Given the description of an element on the screen output the (x, y) to click on. 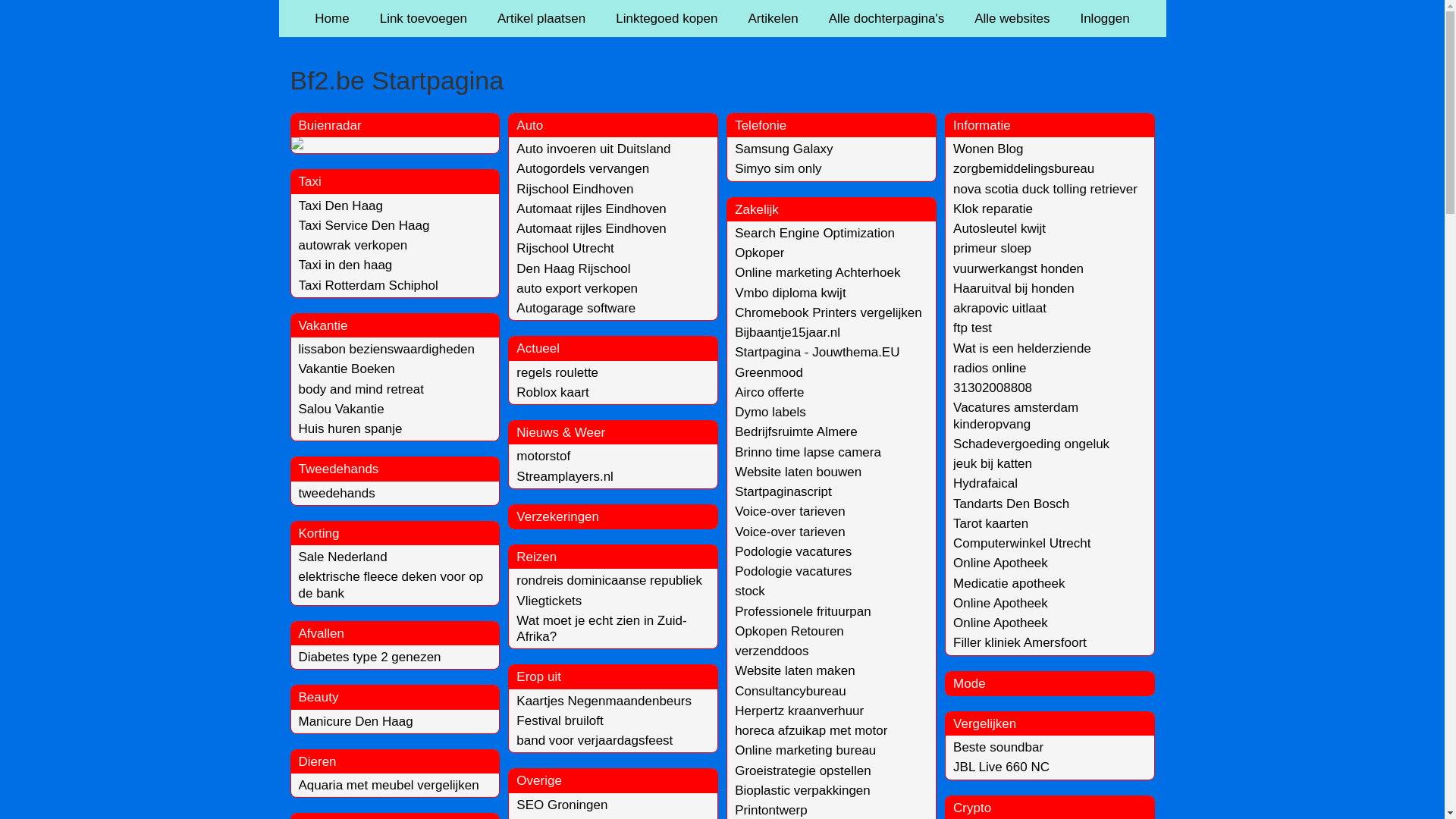
Salou Vakantie Element type: text (341, 408)
Vergelijken Element type: text (984, 723)
band voor verjaardagsfeest Element type: text (594, 740)
Auto invoeren uit Duitsland Element type: text (593, 148)
Zakelijk Element type: text (756, 209)
Taxi Service Den Haag Element type: text (363, 225)
Schadevergoeding ongeluk Element type: text (1031, 443)
Wat moet je echt zien in Zuid-Afrika? Element type: text (601, 628)
Bedrijfsruimte Almere Element type: text (795, 431)
rondreis dominicaanse republiek Element type: text (609, 580)
Online Apotheek Element type: text (1000, 603)
Wonen Blog Element type: text (987, 148)
Klok reparatie Element type: text (992, 208)
Roblox kaart Element type: text (552, 392)
Herpertz kraanverhuur Element type: text (798, 710)
Search Engine Optimization Element type: text (814, 232)
nova scotia duck tolling retriever Element type: text (1045, 189)
primeur sloep Element type: text (992, 248)
SEO Groningen Element type: text (561, 804)
Startpagina - Jouwthema.EU Element type: text (816, 352)
Vacatures amsterdam kinderopvang Element type: text (1015, 415)
Alle dochterpagina's Element type: text (886, 18)
Online marketing bureau Element type: text (804, 750)
Kaartjes Negenmaandenbeurs Element type: text (603, 700)
Artikelen Element type: text (772, 18)
Simyo sim only Element type: text (777, 168)
Erop uit Element type: text (538, 676)
jeuk bij katten Element type: text (992, 463)
Airco offerte Element type: text (768, 392)
stock Element type: text (749, 590)
Bf2.be Startpagina Element type: text (721, 80)
autowrak verkopen Element type: text (352, 245)
Autogordels vervangen Element type: text (582, 168)
horeca afzuikap met motor Element type: text (810, 730)
tweedehands Element type: text (336, 493)
Linktegoed kopen Element type: text (666, 18)
Manicure Den Haag Element type: text (355, 721)
Automaat rijles Eindhoven Element type: text (591, 228)
Groeistrategie opstellen Element type: text (802, 770)
Actueel Element type: text (537, 348)
Wat is een helderziende Element type: text (1022, 348)
Telefonie Element type: text (760, 125)
Online Apotheek Element type: text (1000, 562)
Rijschool Utrecht Element type: text (565, 248)
Taxi Den Haag Element type: text (340, 205)
Automaat rijles Eindhoven Element type: text (591, 208)
Rijschool Eindhoven Element type: text (574, 189)
Hydrafaical Element type: text (985, 483)
Chromebook Printers vergelijken Element type: text (828, 312)
Vakantie Element type: text (323, 325)
Consultancybureau Element type: text (789, 691)
Taxi Rotterdam Schiphol Element type: text (368, 285)
Startpaginascript Element type: text (782, 491)
Diabetes type 2 genezen Element type: text (369, 656)
body and mind retreat Element type: text (360, 389)
Tweedehands Element type: text (338, 468)
31302008808 Element type: text (992, 387)
Online Apotheek Element type: text (1000, 622)
Greenmood Element type: text (768, 372)
Tandarts Den Bosch Element type: text (1011, 503)
regels roulette Element type: text (557, 372)
Huis huren spanje Element type: text (350, 428)
Opkopen Retouren Element type: text (789, 631)
verzenddoos Element type: text (771, 650)
Mode Element type: text (969, 683)
Podologie vacatures Element type: text (792, 571)
Vakantie Boeken Element type: text (346, 368)
Aquaria met meubel vergelijken Element type: text (388, 785)
Taxi in den haag Element type: text (345, 264)
Auto Element type: text (529, 125)
Printontwerp Element type: text (770, 810)
Artikel plaatsen Element type: text (541, 18)
Vliegtickets Element type: text (548, 600)
lissabon bezienswaardigheden Element type: text (386, 349)
Autosleutel kwijt Element type: text (999, 228)
Samsung Galaxy Element type: text (783, 148)
Medicatie apotheek Element type: text (1008, 583)
Voice-over tarieven Element type: text (789, 531)
Verzekeringen Element type: text (557, 516)
Reizen Element type: text (536, 556)
Buienradar Element type: text (329, 125)
Inloggen Element type: text (1104, 18)
radios online Element type: text (989, 367)
Taxi Element type: text (309, 181)
Professionele frituurpan Element type: text (802, 611)
Tarot kaarten Element type: text (990, 523)
zorgbemiddelingsbureau Element type: text (1023, 168)
Overige Element type: text (538, 780)
Dymo labels Element type: text (770, 411)
Online marketing Achterhoek Element type: text (817, 272)
Nieuws & Weer Element type: text (560, 432)
motorstof Element type: text (543, 455)
Korting Element type: text (318, 533)
vuurwerkangst honden Element type: text (1018, 268)
Streamplayers.nl Element type: text (564, 476)
Link toevoegen Element type: text (423, 18)
Crypto Element type: text (972, 807)
Computerwinkel Utrecht Element type: text (1021, 543)
Opkoper Element type: text (759, 252)
Home Element type: text (331, 18)
ftp test Element type: text (972, 327)
Voice-over tarieven Element type: text (789, 511)
Vmbo diploma kwijt Element type: text (789, 292)
Website laten bouwen Element type: text (797, 471)
akrapovic uitlaat Element type: text (999, 308)
Beste soundbar Element type: text (998, 747)
Alle websites Element type: text (1011, 18)
JBL Live 660 NC Element type: text (1001, 766)
Autogarage software Element type: text (575, 308)
Den Haag Rijschool Element type: text (573, 268)
auto export verkopen Element type: text (576, 288)
Bijbaantje15jaar.nl Element type: text (787, 332)
Informatie Element type: text (981, 125)
Podologie vacatures Element type: text (792, 551)
Filler kliniek Amersfoort Element type: text (1019, 642)
Bioplastic verpakkingen Element type: text (802, 790)
Haaruitval bij honden Element type: text (1013, 288)
Sale Nederland Element type: text (342, 556)
elektrische fleece deken voor op de bank Element type: text (390, 584)
Website laten maken Element type: text (794, 670)
Brinno time lapse camera Element type: text (807, 452)
Festival bruiloft Element type: text (559, 720)
